Given the description of an element on the screen output the (x, y) to click on. 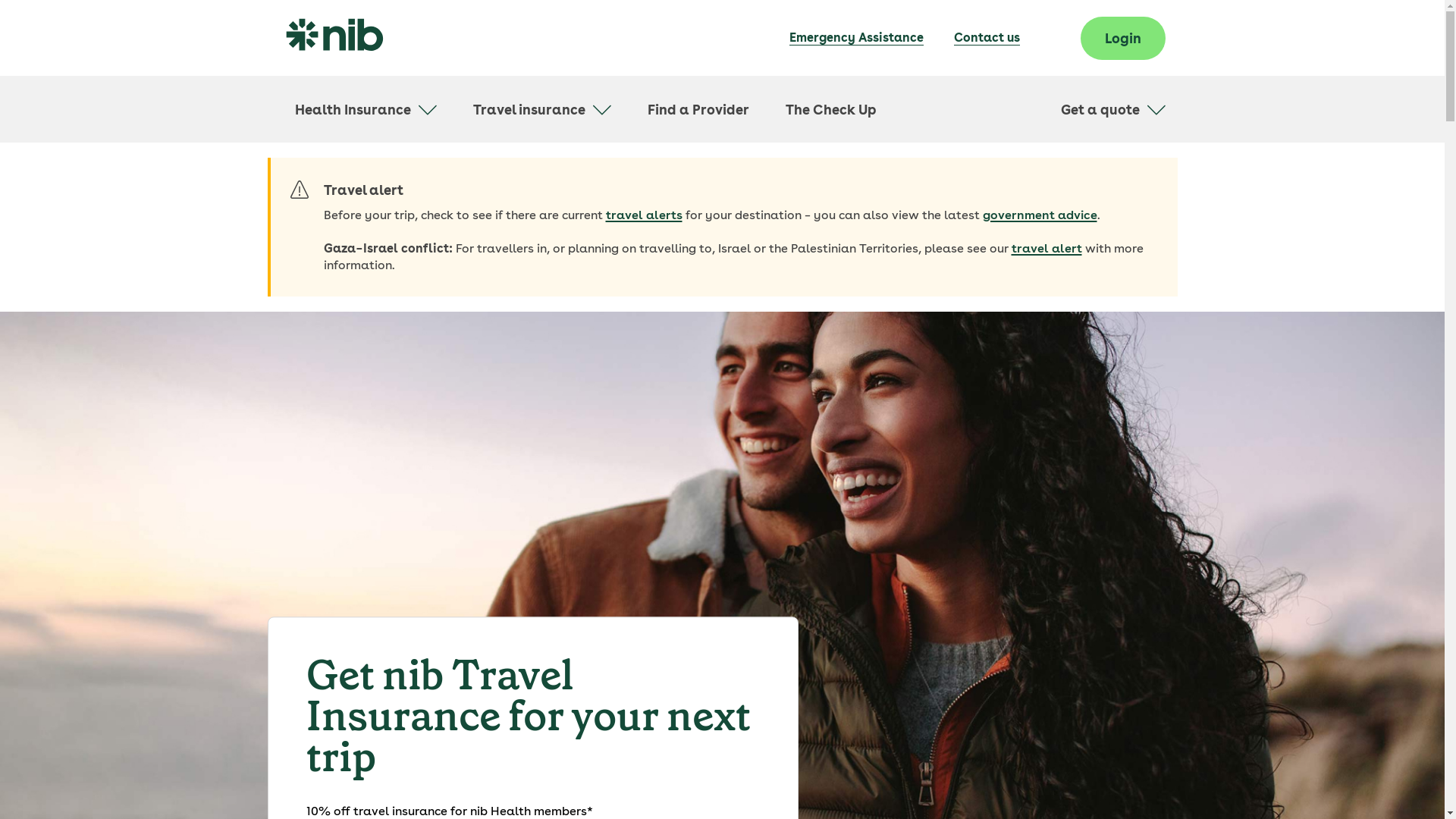
The Check Up Element type: text (830, 109)
travel alert Element type: text (1046, 248)
Emergency Assistance Element type: text (855, 37)
government advice Element type: text (1039, 214)
Find a Provider Element type: text (698, 109)
Get a quote Element type: text (1112, 109)
travel alerts Element type: text (643, 214)
Travel insurance Element type: text (542, 109)
Health Insurance Element type: text (365, 109)
Login Element type: text (1121, 37)
Contact us Element type: text (986, 37)
